Given the description of an element on the screen output the (x, y) to click on. 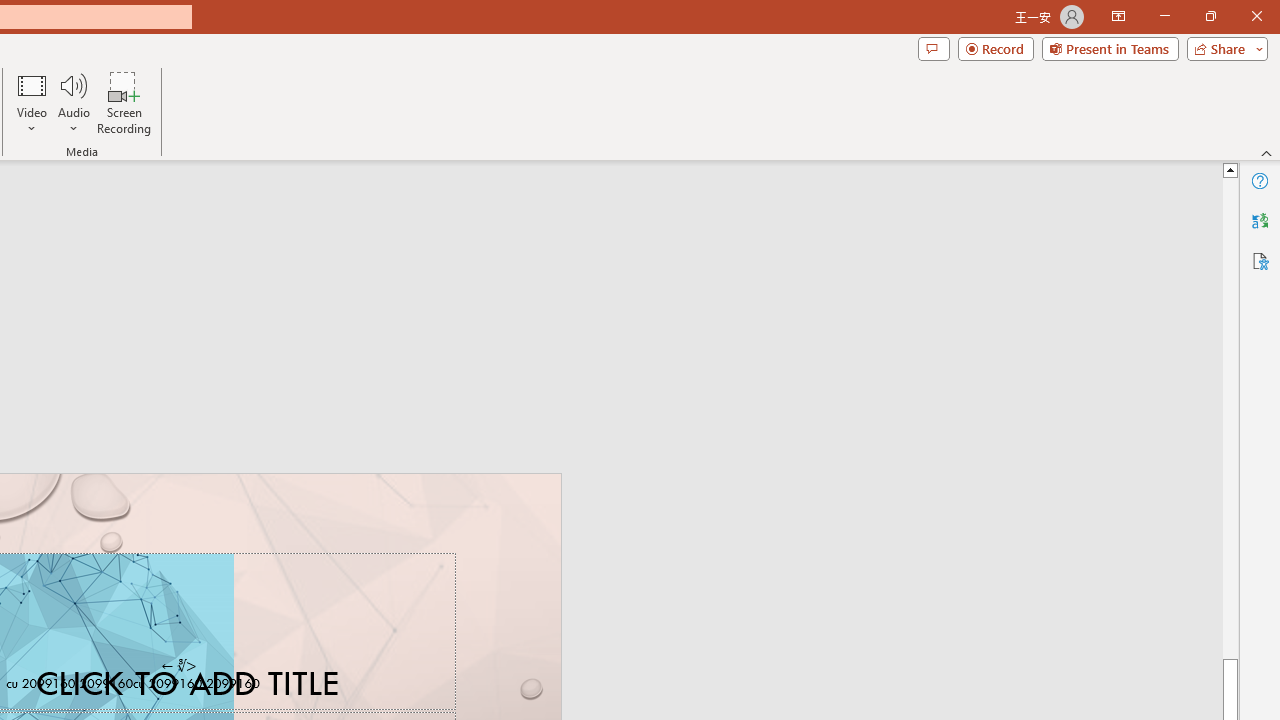
Video (31, 102)
TextBox 7 (178, 666)
Screen Recording... (123, 102)
